Given the description of an element on the screen output the (x, y) to click on. 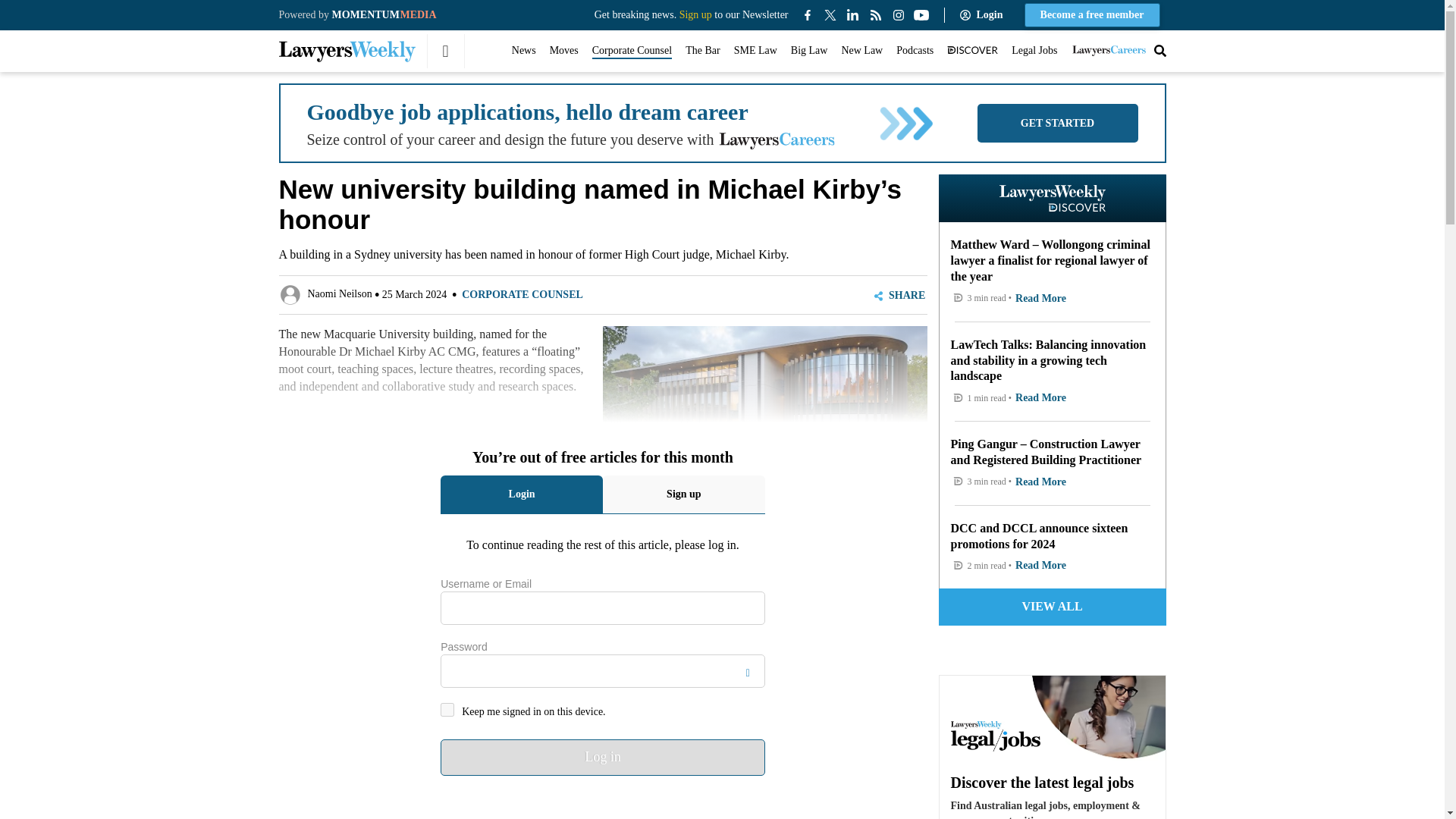
Log in (603, 757)
Sign up (695, 14)
MOMENTUM MEDIA (383, 14)
on (447, 709)
Become a free member (1092, 15)
